Given the description of an element on the screen output the (x, y) to click on. 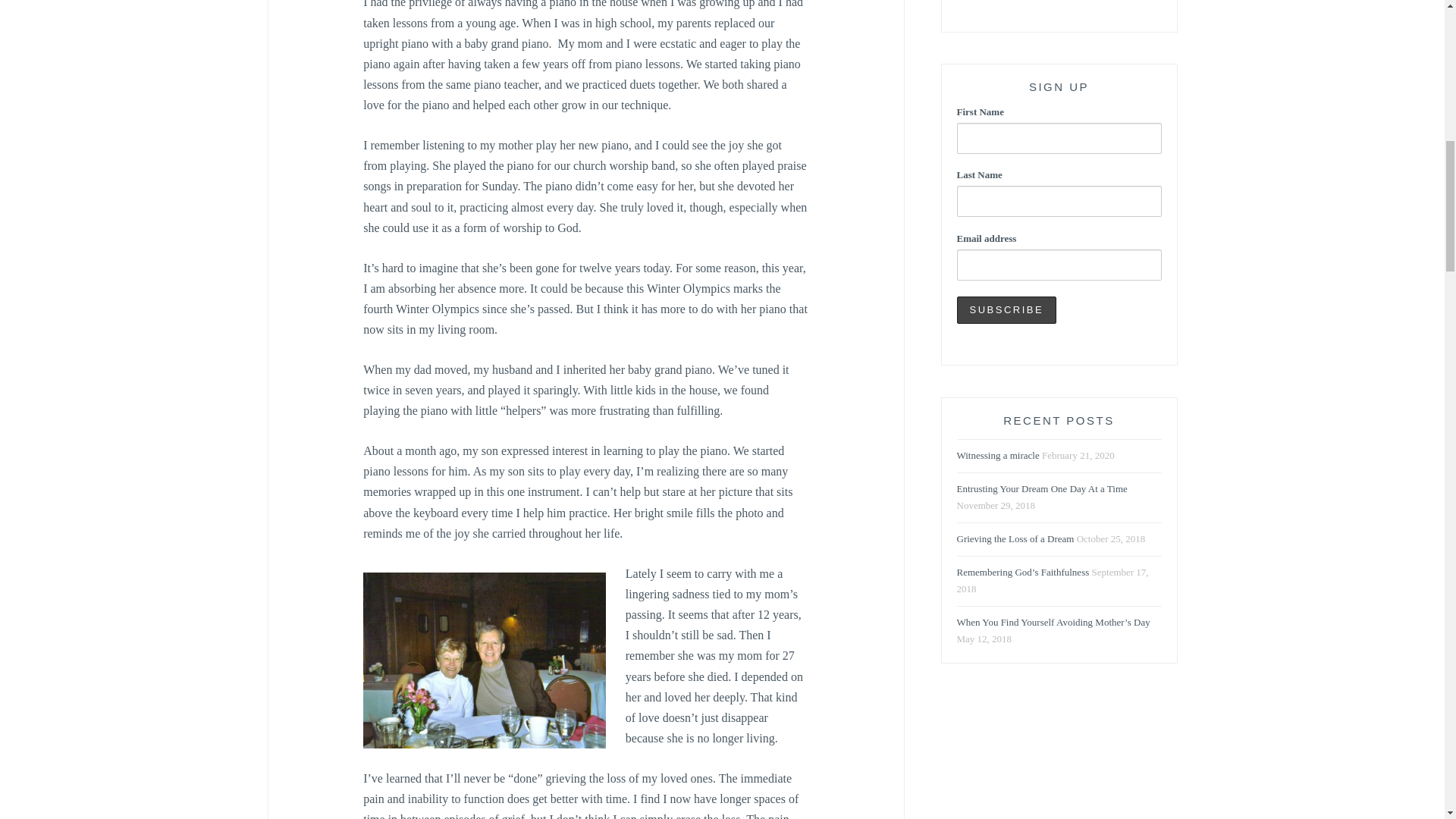
Subscribe (1006, 310)
Subscribe (1006, 310)
Entrusting Your Dream One Day At a Time (1041, 489)
Grieving the Loss of a Dream (1015, 539)
Witnessing a miracle (997, 455)
